Given the description of an element on the screen output the (x, y) to click on. 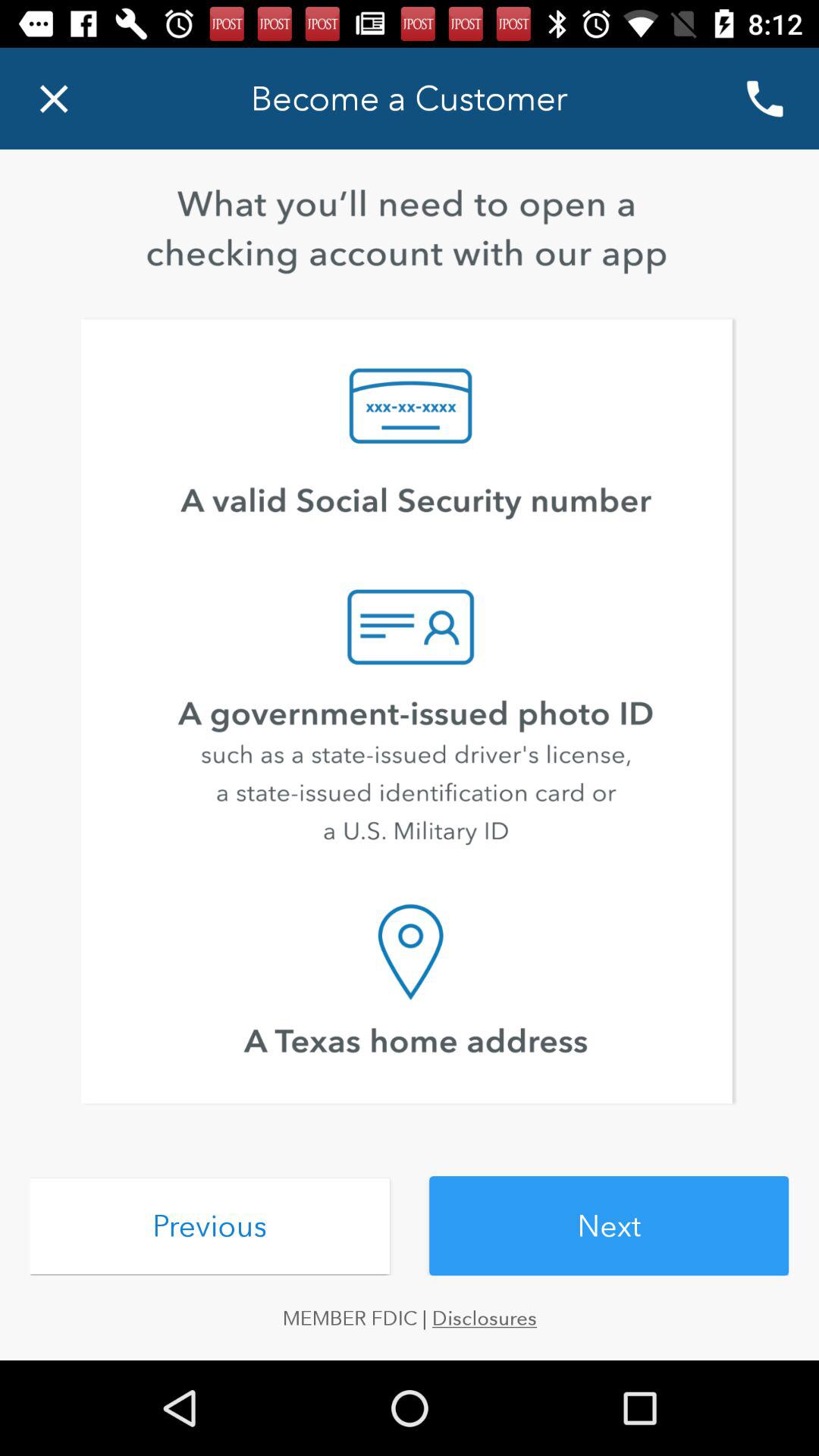
swipe to previous item (209, 1226)
